Given the description of an element on the screen output the (x, y) to click on. 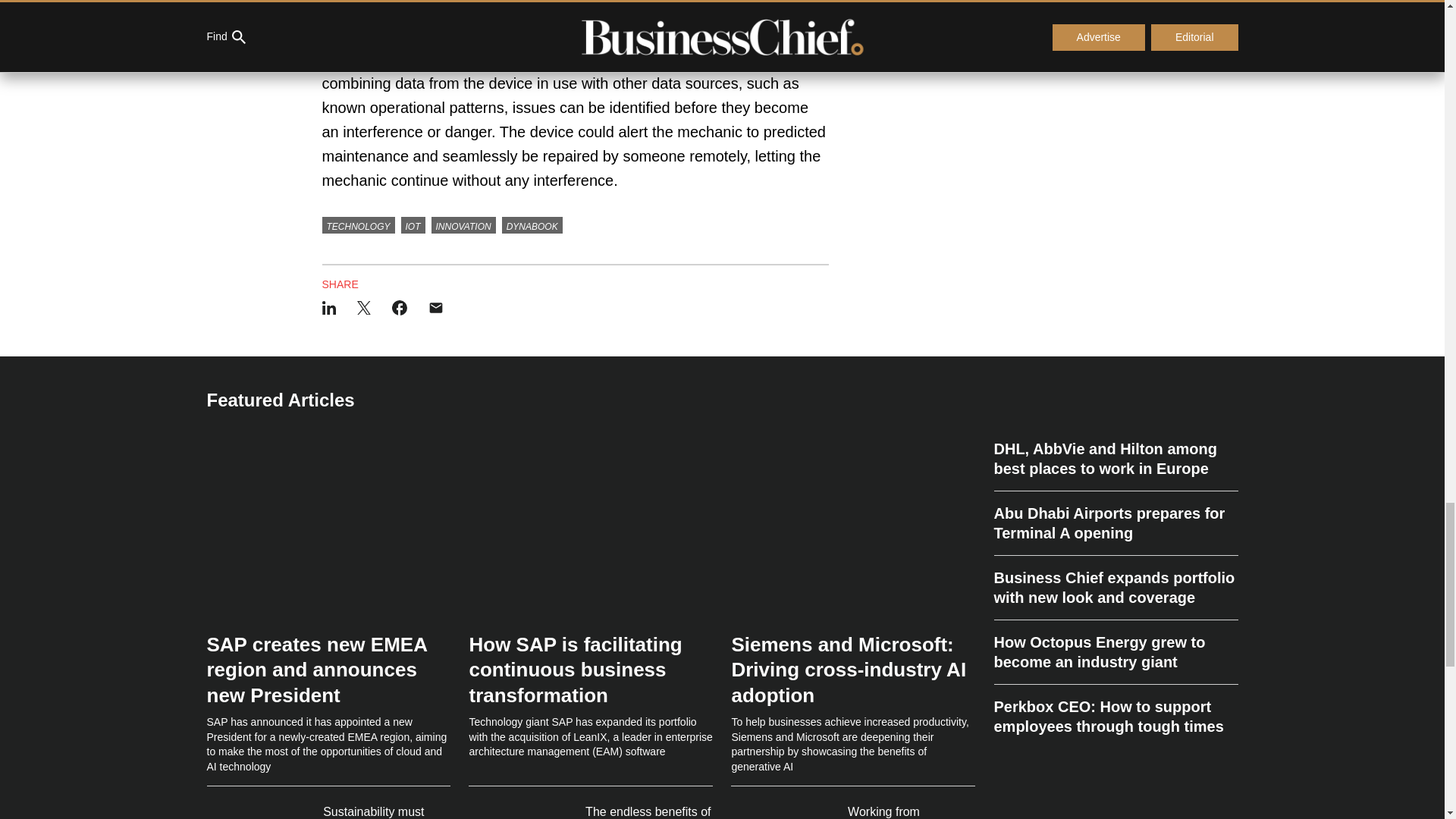
Business Chief expands portfolio with new look and coverage (1114, 587)
DHL, AbbVie and Hilton among best places to work in Europe (1114, 464)
How Octopus Energy grew to become an industry giant (1114, 651)
DYNABOOK (532, 225)
Perkbox CEO: How to support employees through tough times (1114, 710)
IOT (413, 225)
TECHNOLOGY (357, 225)
INNOVATION (463, 225)
Abu Dhabi Airports prepares for Terminal A opening (1114, 523)
